Given the description of an element on the screen output the (x, y) to click on. 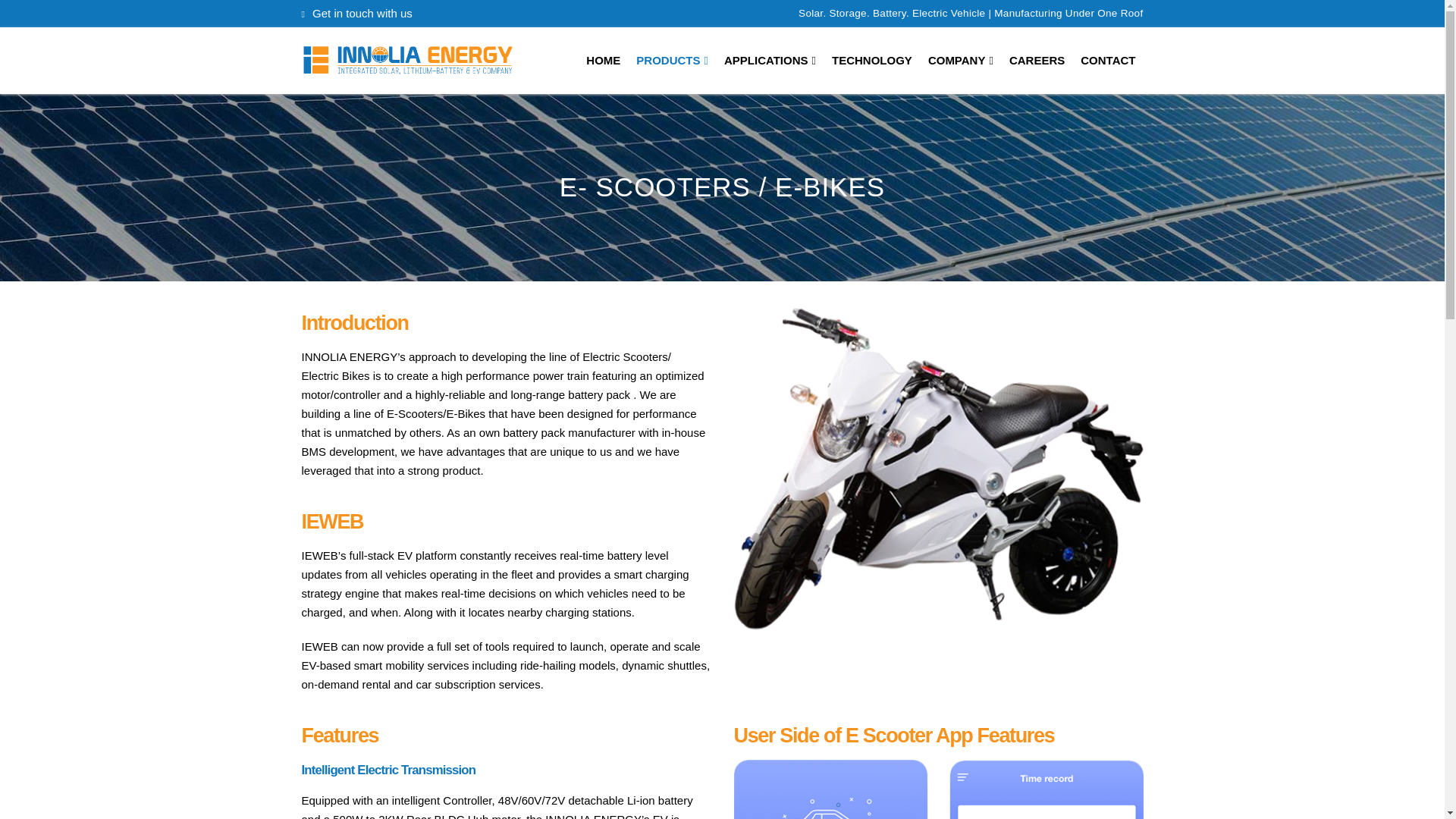
HOME (602, 60)
PRODUCTS (672, 60)
Get in touch with us (360, 13)
Innolia Energy - Solar, Lithium Battery and EV company (407, 60)
